Given the description of an element on the screen output the (x, y) to click on. 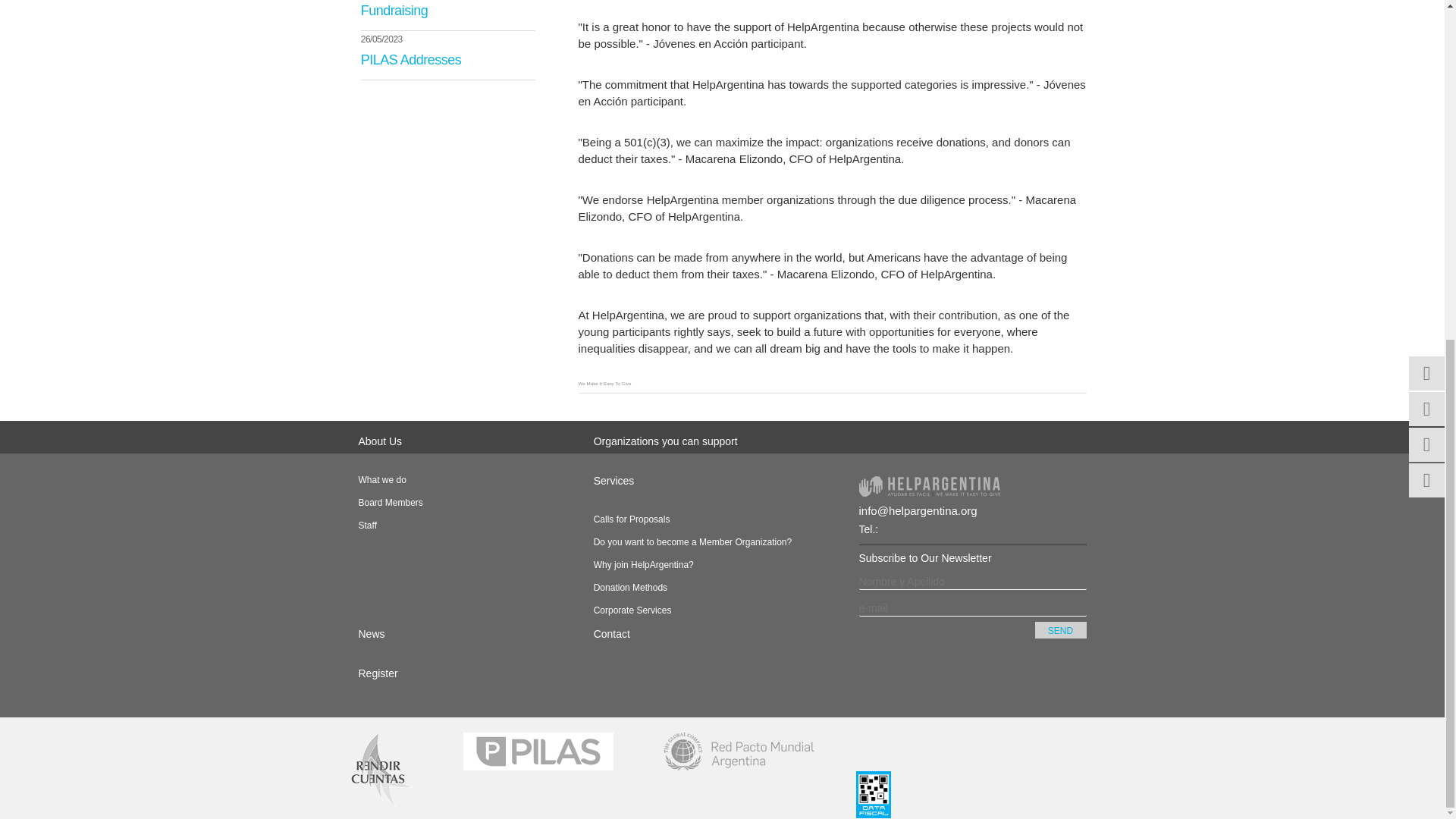
SEND (1059, 629)
